Given the description of an element on the screen output the (x, y) to click on. 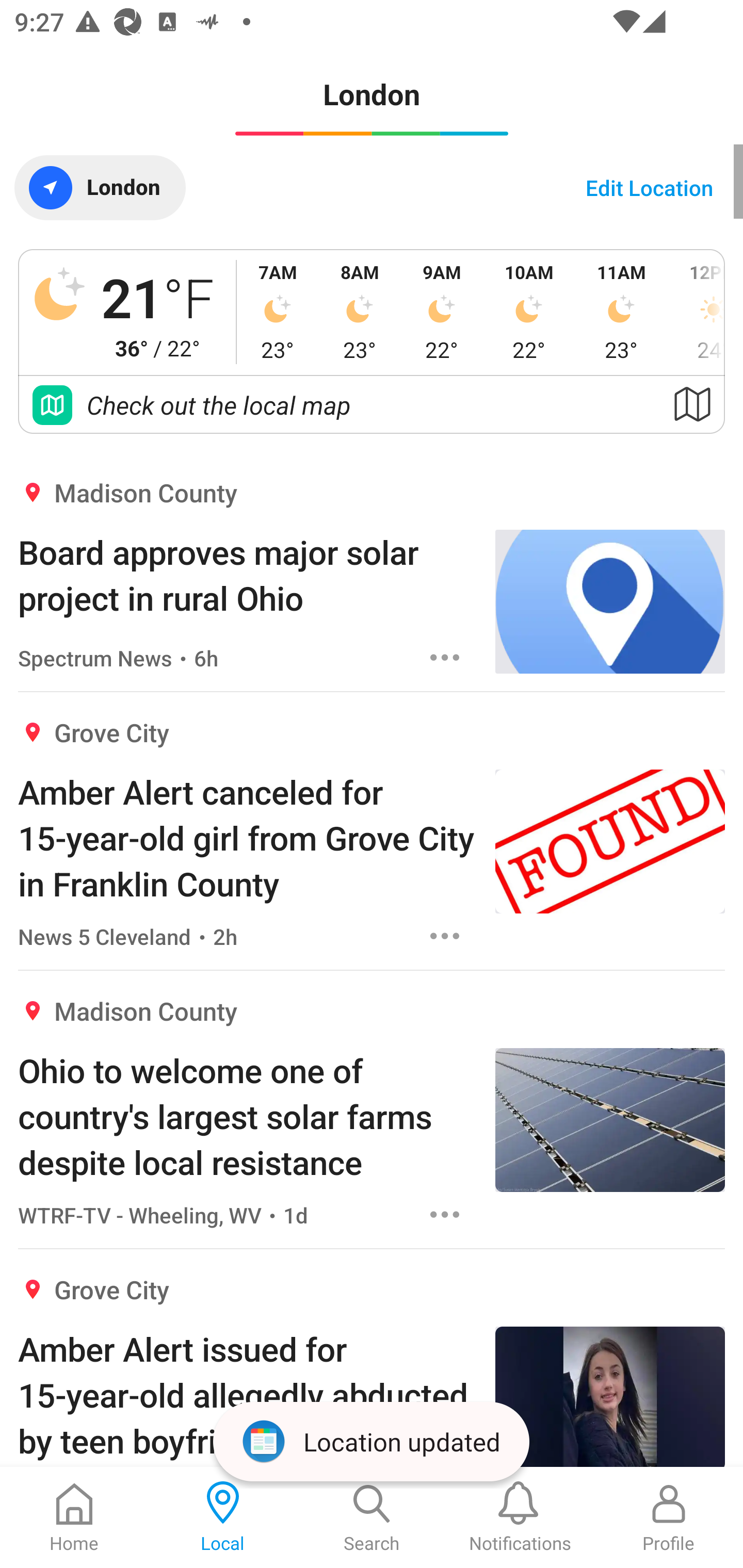
London (99, 187)
Edit Location (648, 187)
7AM 23° (277, 311)
8AM 23° (359, 311)
9AM 22° (441, 311)
10AM 22° (528, 311)
11AM 23° (621, 311)
12PM 24° (696, 311)
Check out the local map (371, 405)
Options (444, 657)
Options (444, 936)
Options (444, 1214)
Home (74, 1517)
Search (371, 1517)
Notifications (519, 1517)
Profile (668, 1517)
